Given the description of an element on the screen output the (x, y) to click on. 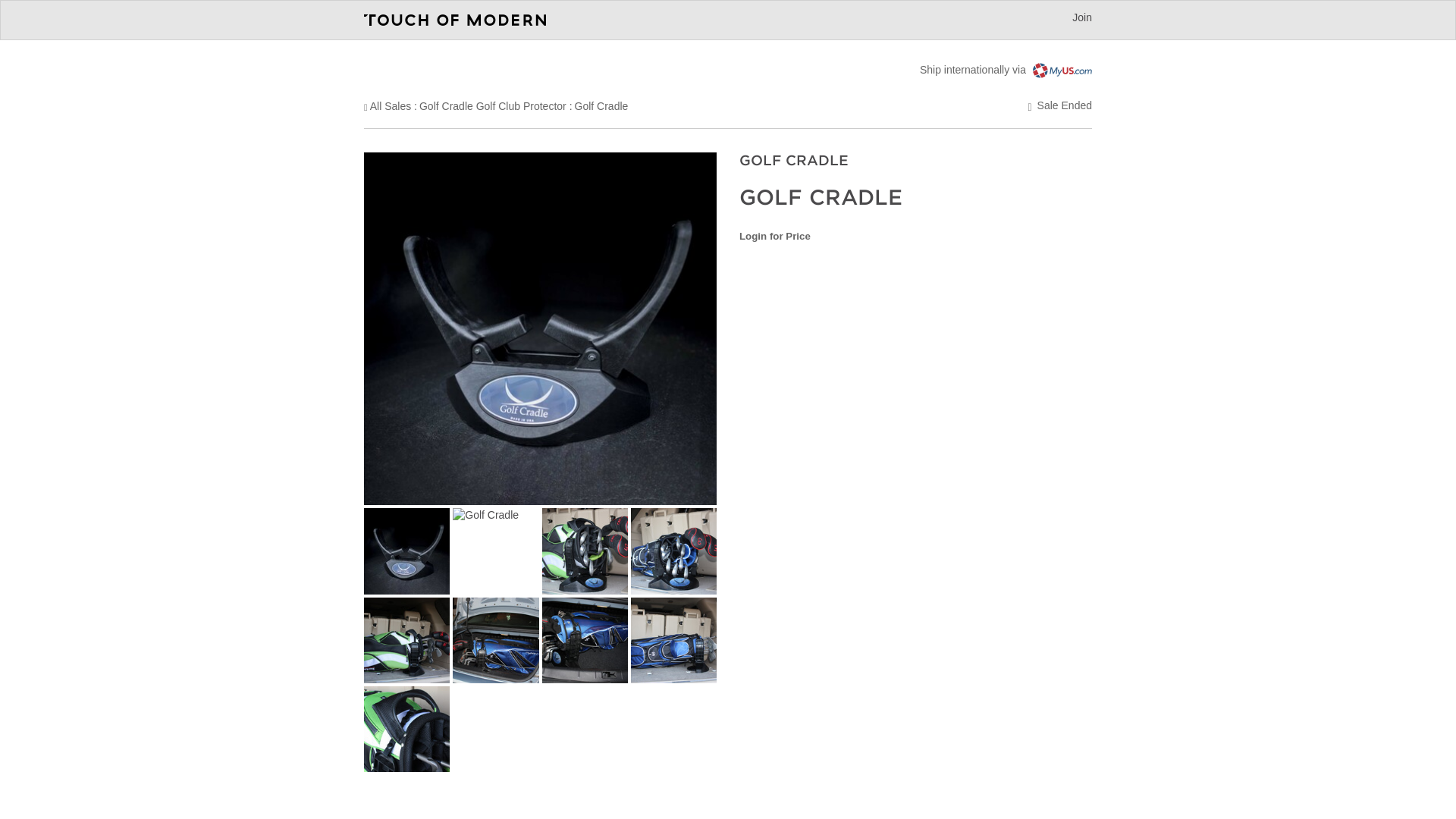
Ship internationally via (1006, 69)
Golf Cradle Golf Club Protector (492, 105)
All Sales (389, 105)
Join (1081, 17)
All Sales (389, 105)
Golf Cradle Golf Club Protector (492, 105)
